Given the description of an element on the screen output the (x, y) to click on. 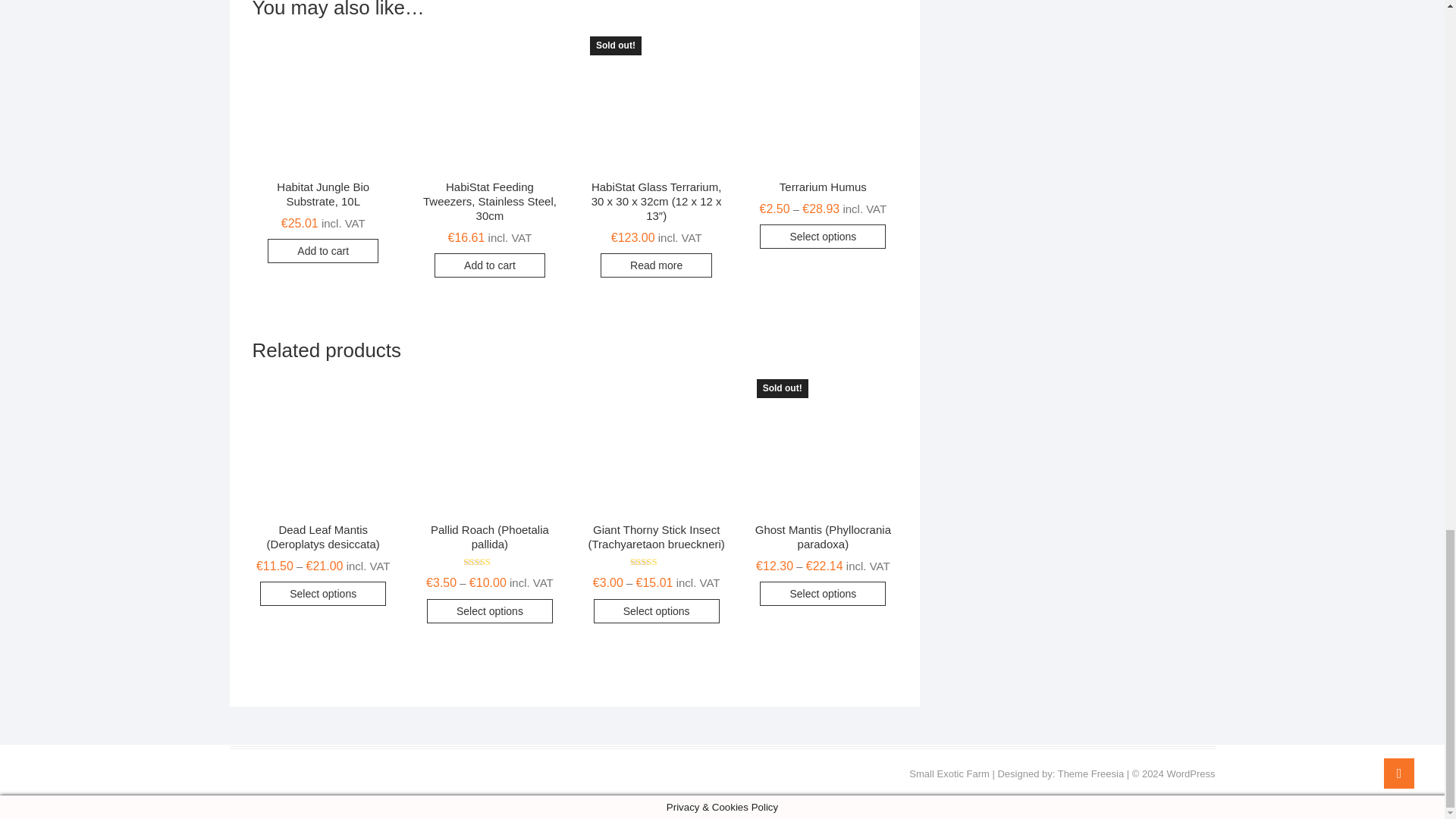
Add to cart (322, 250)
Read more (655, 265)
WordPress (1190, 773)
Add to cart (488, 265)
Select options (656, 610)
Theme Freesia (1091, 773)
Select options (822, 236)
Select options (322, 593)
Theme Freesia (1091, 773)
Small Exotic Farm (948, 773)
